Given the description of an element on the screen output the (x, y) to click on. 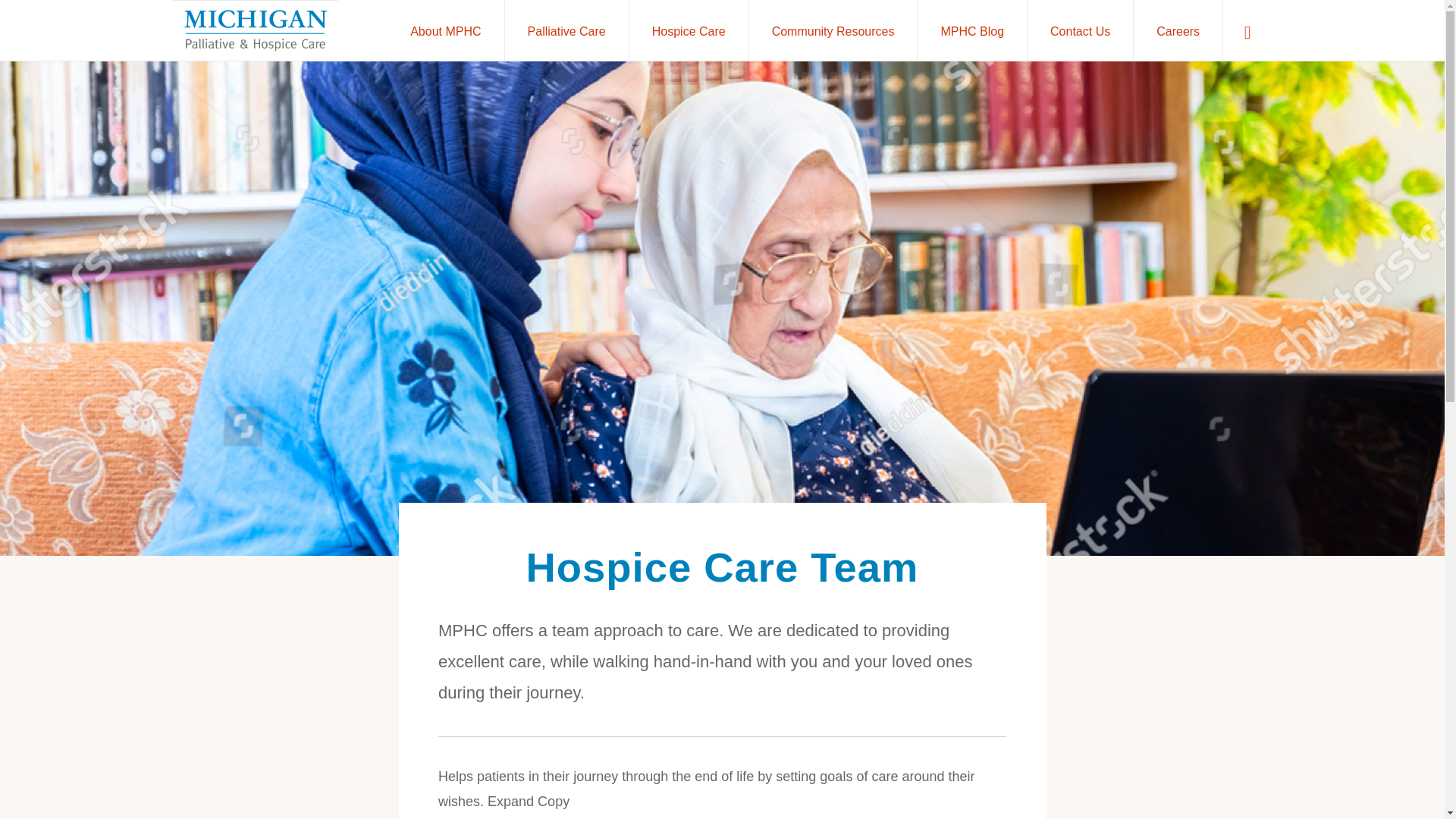
Community Resources (833, 30)
Contact Us (1079, 30)
About MPHC (561, 382)
Palliative Care (566, 30)
MPHC Blog (971, 30)
Palliative Care (569, 452)
Careers (565, 760)
Careers (1178, 30)
About MPHC (445, 30)
MPHC Blog (561, 661)
Community Resources (576, 592)
Hospice Care (566, 522)
Contact Us (575, 718)
Hospice Care (688, 30)
